Given the description of an element on the screen output the (x, y) to click on. 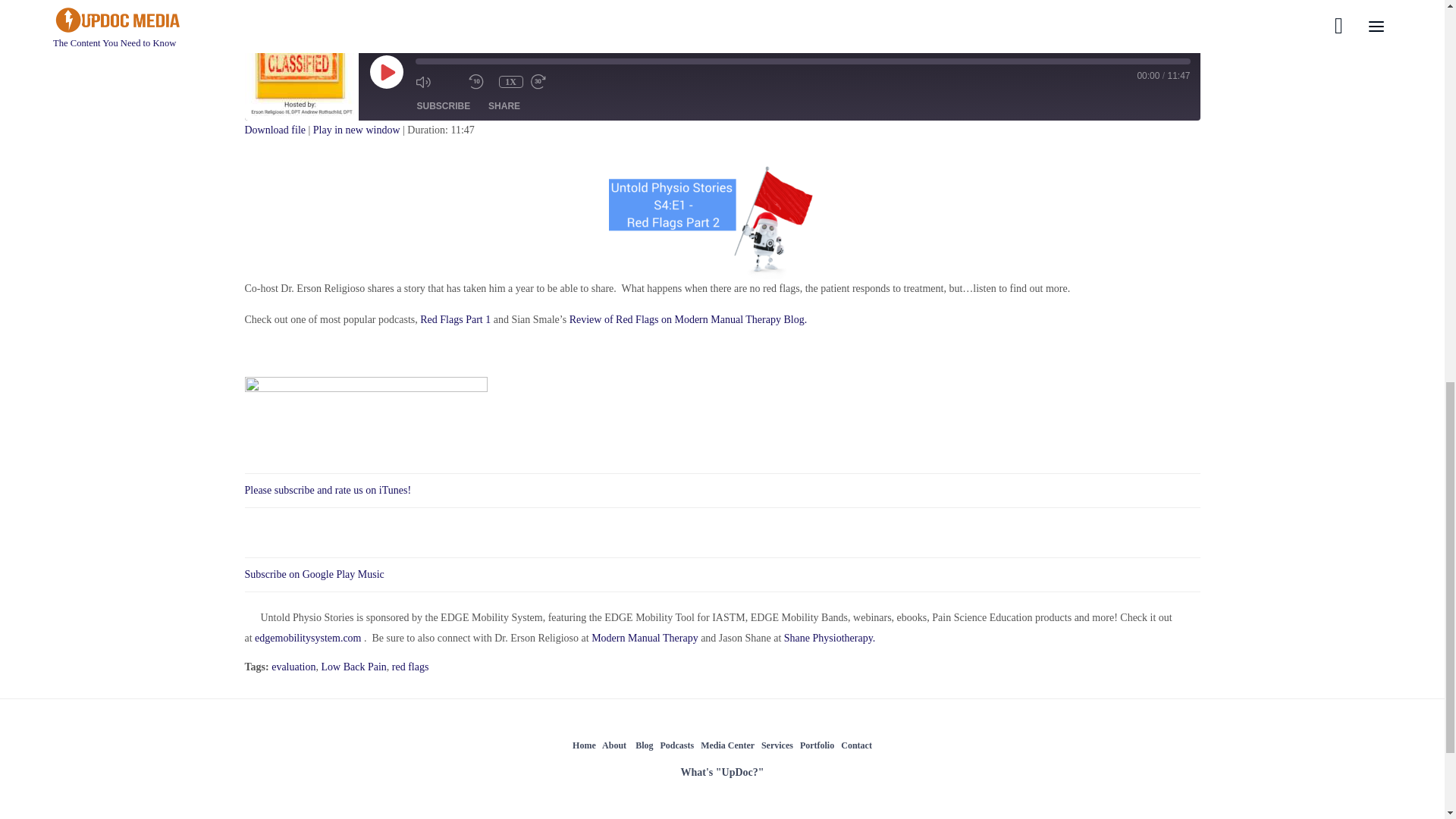
Blog (643, 745)
Fast Forward 30 seconds (553, 81)
edgemobilitysystem.com (307, 638)
red flags (410, 666)
Subscribe on Google Play Music (314, 573)
FAST FORWARD 30 SECONDS (553, 81)
Podcasts (676, 745)
Play (386, 71)
REWIND 10 SECONDS (480, 81)
Rewind 10 seconds (480, 81)
Review of Red Flags on Modern Manual Therapy Blog. (688, 319)
SHARE (503, 106)
About (614, 745)
Untold Physio Stories (301, 63)
